Given the description of an element on the screen output the (x, y) to click on. 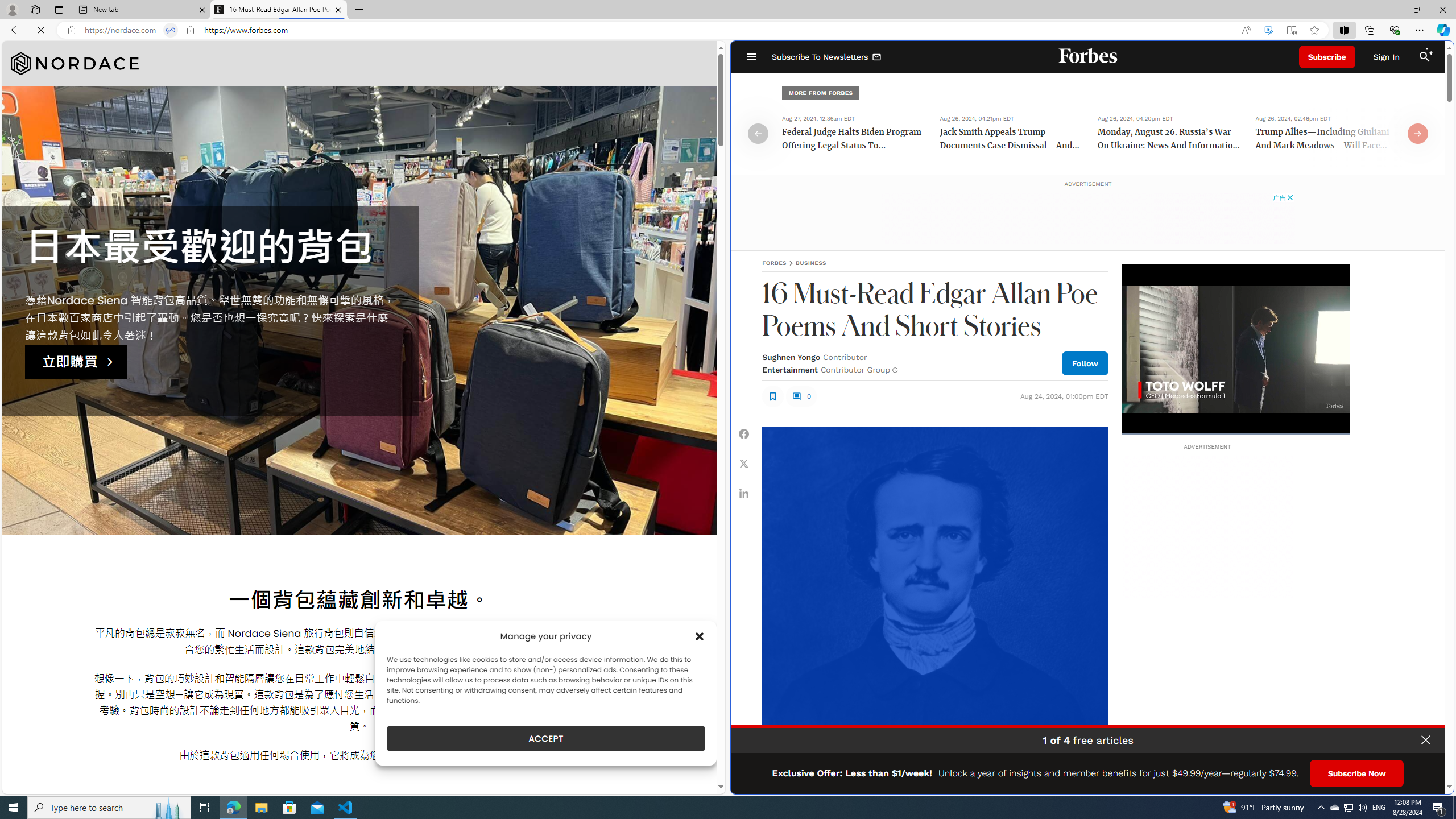
Class: fs-icon fs-icon--xCorp (743, 463)
Class: article-sharing__item (743, 493)
FORBES (774, 262)
Class: fs-icon fs-icon--Facebook (744, 433)
16 Must-Read Edgar Allan Poe Poems And Short Stories (277, 9)
Terms (1434, 781)
Enter Immersive Reader (F9) (1291, 29)
Subscribe Now (1356, 773)
Arrow Right (1417, 133)
